Given the description of an element on the screen output the (x, y) to click on. 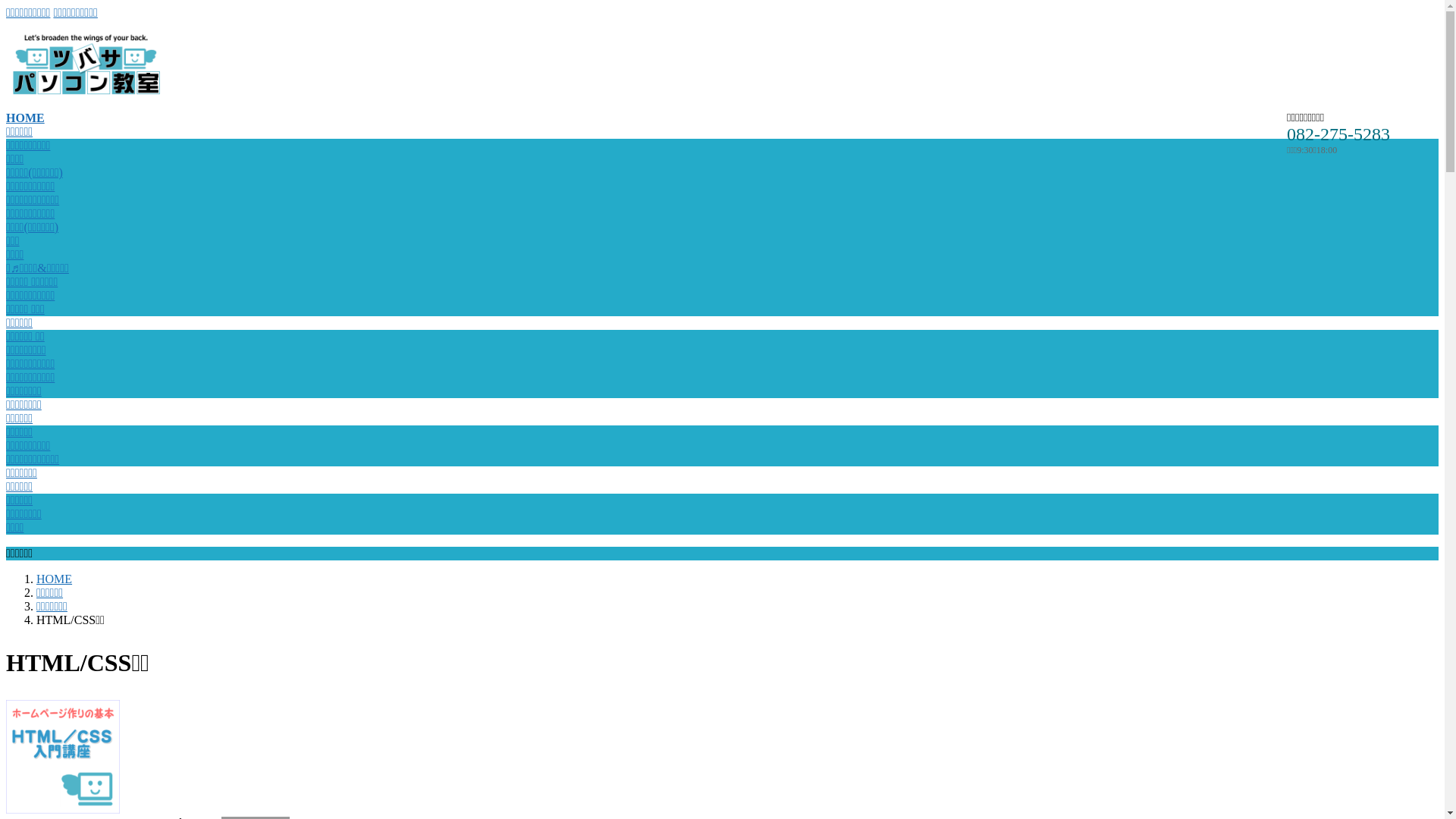
HOME Element type: text (54, 578)
HOME Element type: text (25, 117)
